Given the description of an element on the screen output the (x, y) to click on. 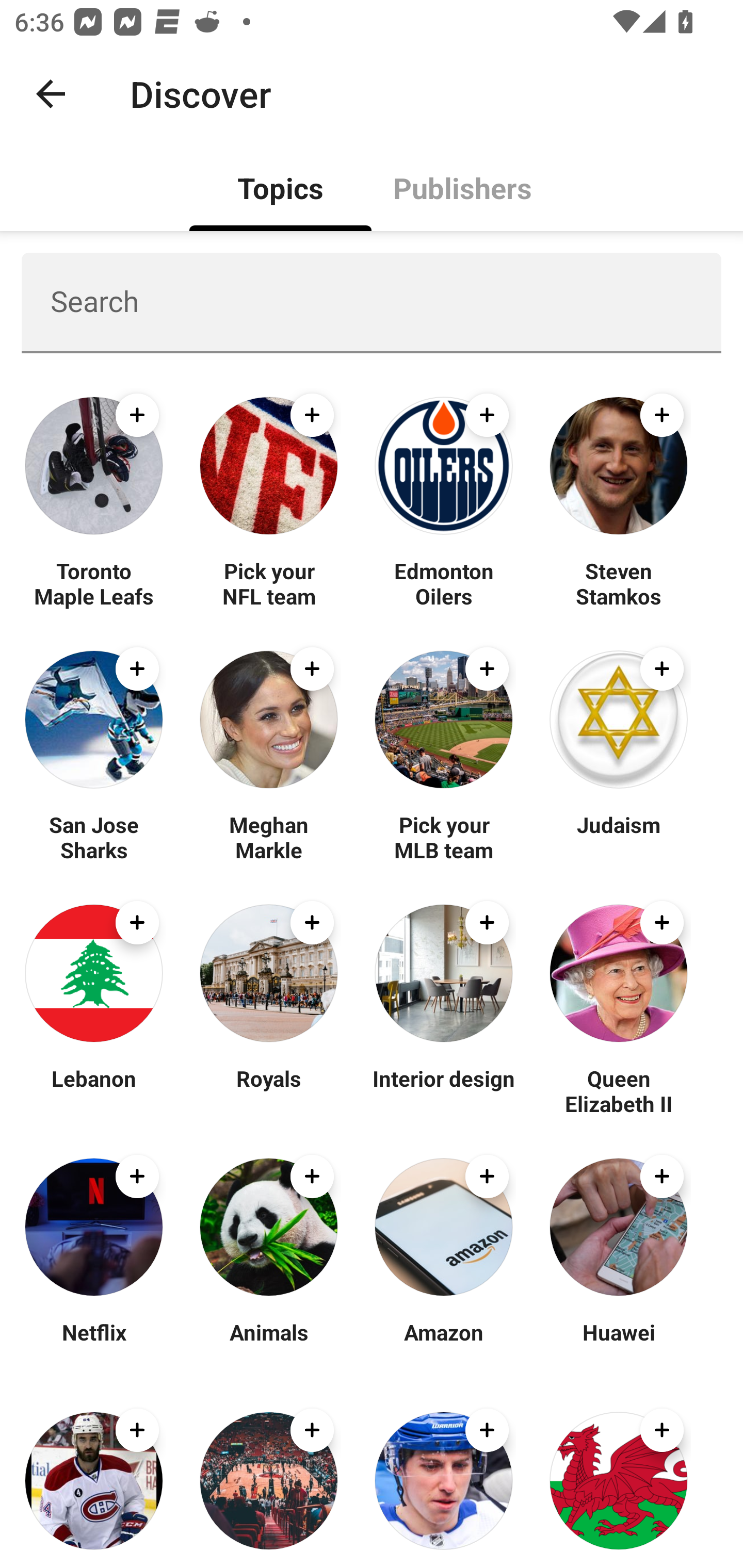
Publishers (462, 187)
Search (371, 302)
Toronto Maple Leafs (93, 582)
Pick your NFL team (268, 582)
Edmonton Oilers (443, 582)
Steven Stamkos (618, 582)
San Jose Sharks (93, 836)
Meghan Markle (268, 836)
Pick your MLB team (443, 836)
Judaism (618, 836)
Lebanon (93, 1090)
Royals (268, 1090)
Interior design (443, 1090)
Queen Elizabeth II (618, 1090)
Netflix (93, 1344)
Animals (268, 1344)
Amazon (443, 1344)
Huawei (618, 1344)
